Given the description of an element on the screen output the (x, y) to click on. 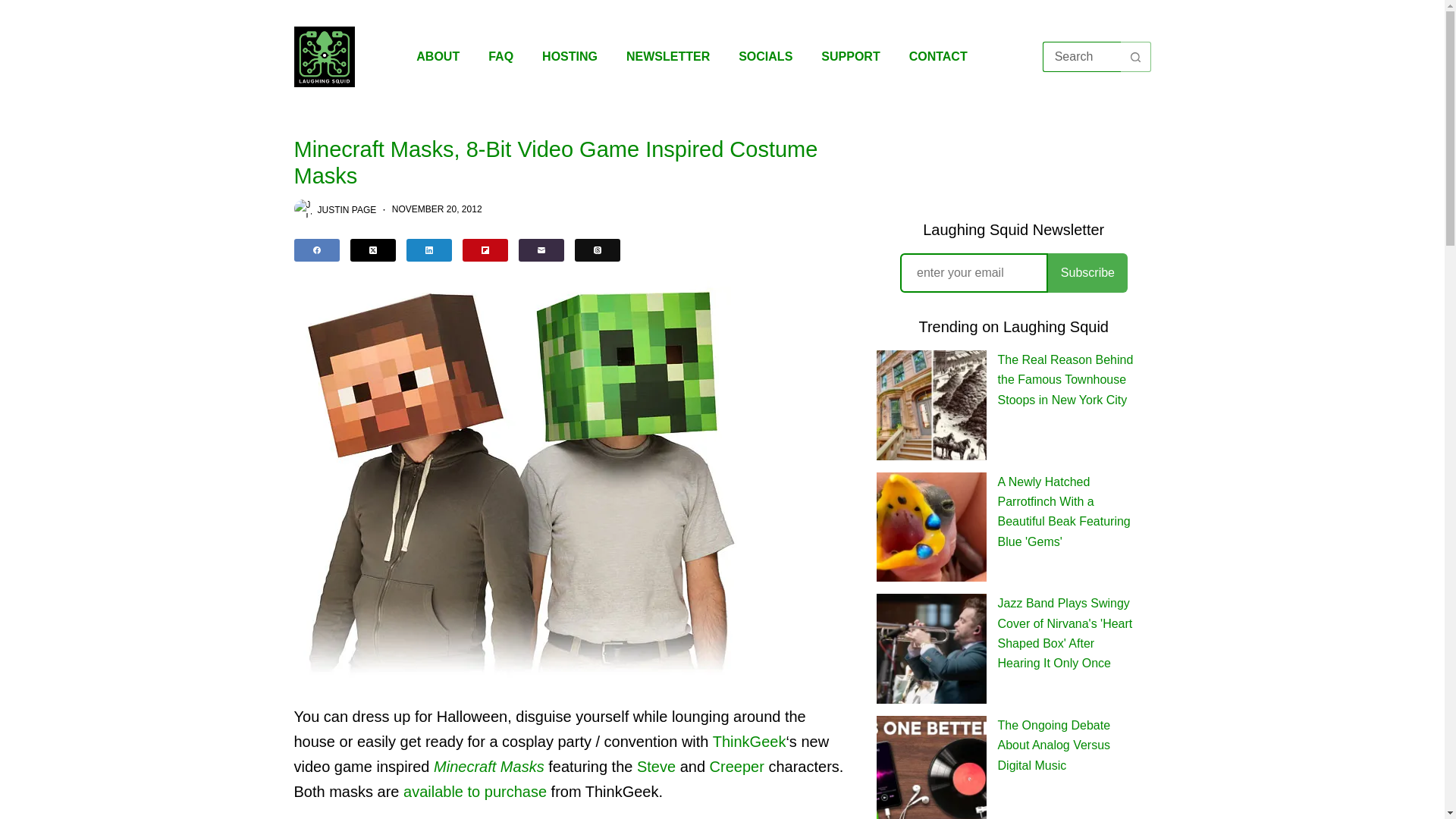
Posts by Justin Page (346, 208)
Steve (656, 766)
Minecraft Masks (488, 766)
NEWSLETTER (667, 56)
JUSTIN PAGE (346, 208)
Skip to content (15, 7)
Creeper (737, 766)
